Given the description of an element on the screen output the (x, y) to click on. 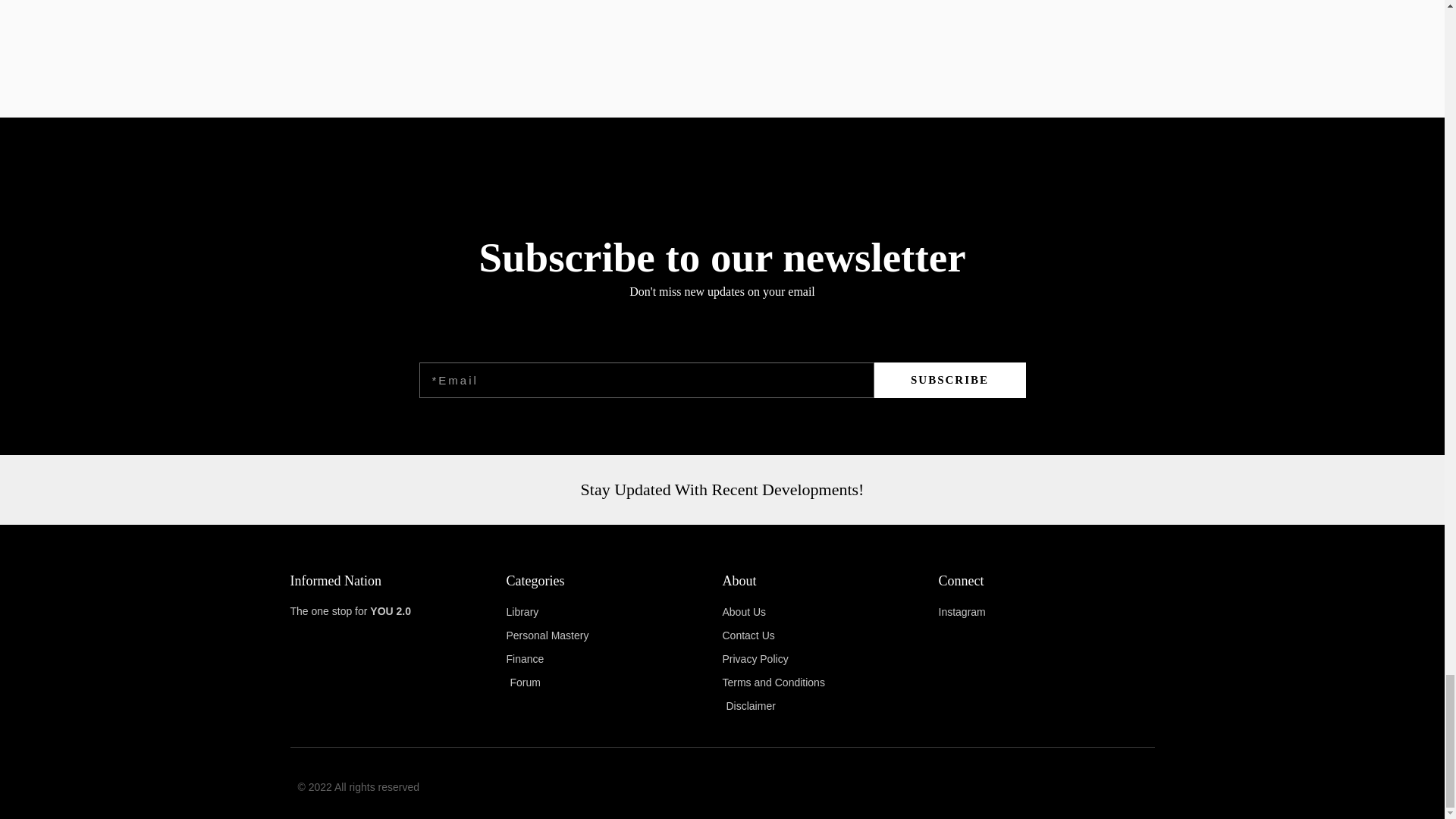
SUBSCRIBE (949, 380)
Forum (614, 682)
About Us (829, 612)
Contact Us (829, 636)
Personal Mastery (614, 636)
Library (614, 612)
Finance (614, 659)
